Given the description of an element on the screen output the (x, y) to click on. 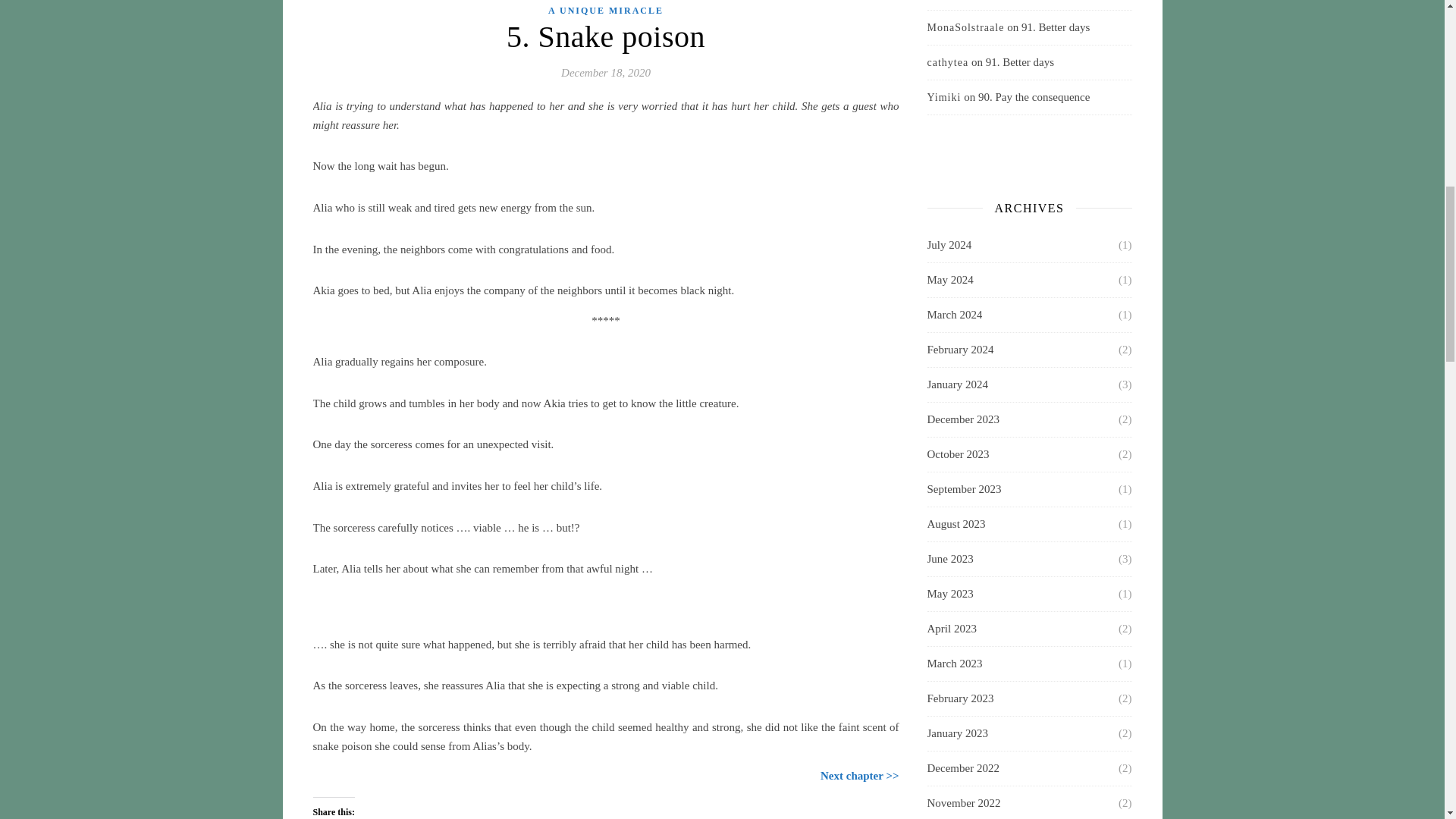
Follow Button (1028, 152)
